Given the description of an element on the screen output the (x, y) to click on. 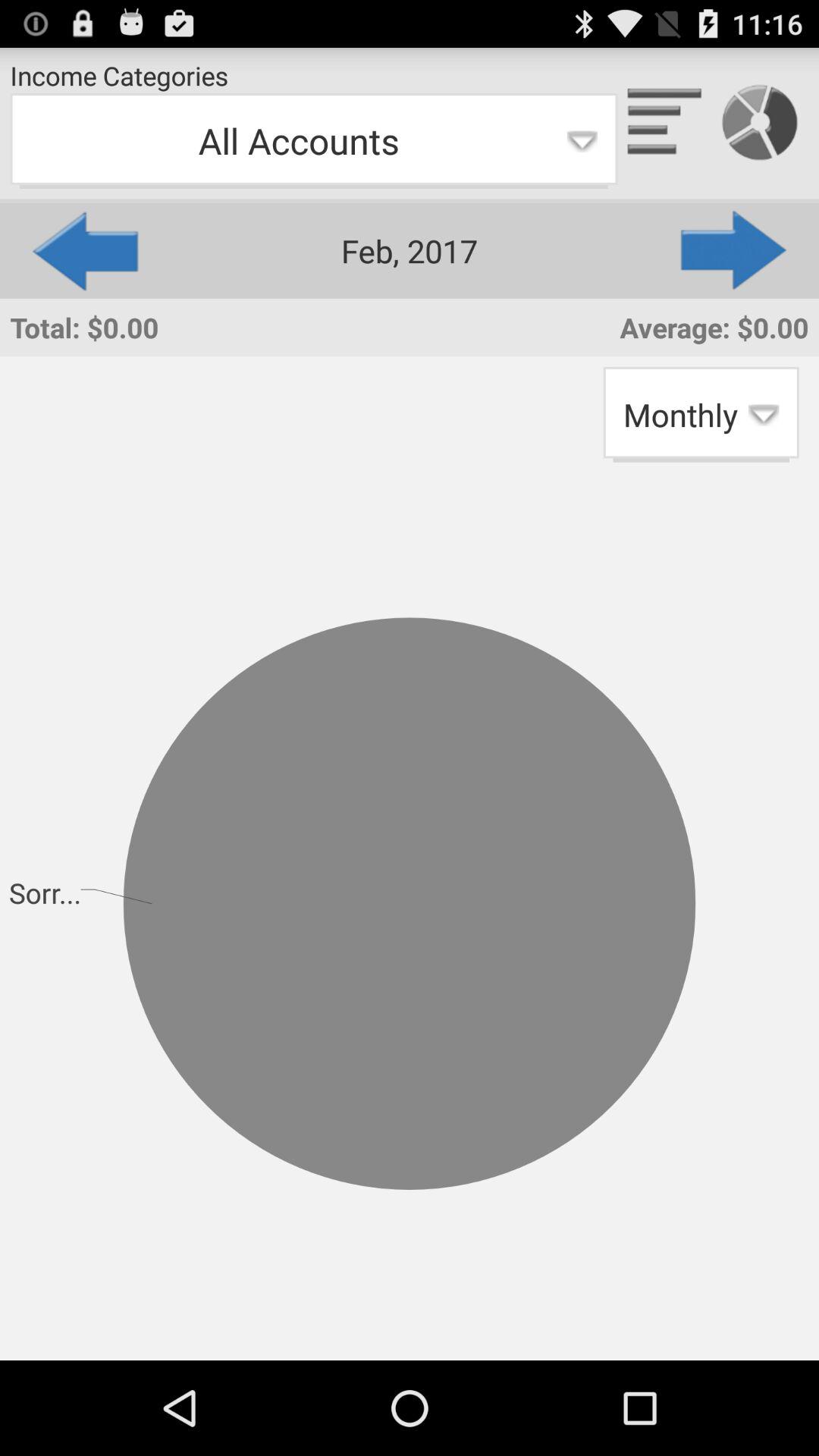
swipe to the all accounts button (313, 140)
